Given the description of an element on the screen output the (x, y) to click on. 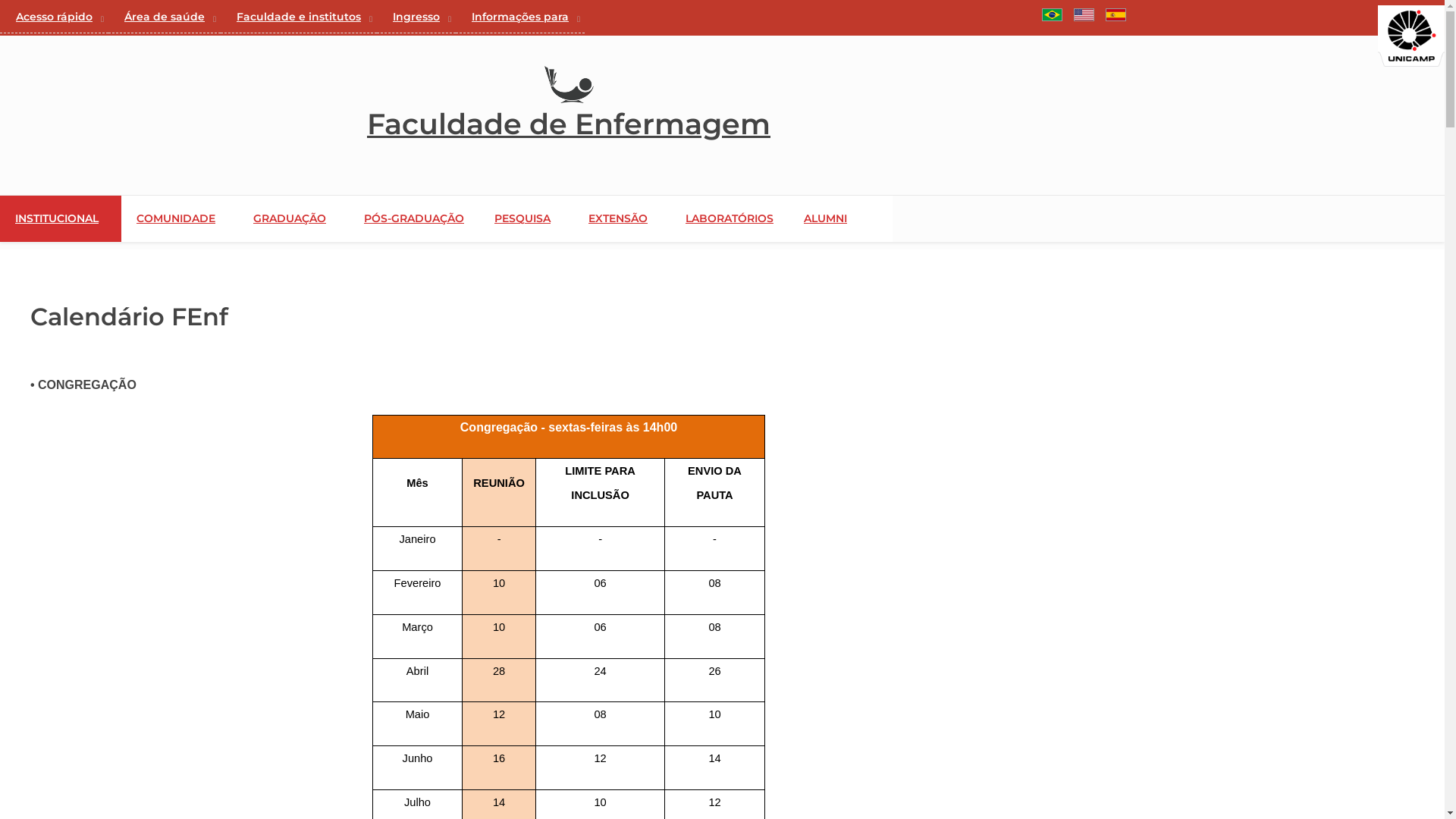
ES Element type: hover (1115, 14)
INSTITUCIONAL Element type: text (79, 218)
EN Element type: hover (1083, 14)
Buscar/Search Element type: hover (1036, 15)
Faculdade e institutos Element type: text (298, 16)
Faculdade de Enfermagem Element type: text (568, 123)
Ingresso Element type: text (415, 16)
ALUMNI Element type: text (840, 218)
BR Element type: hover (1051, 14)
COMUNIDADE Element type: text (198, 218)
PESQUISA Element type: text (545, 218)
  Element type: text (1036, 15)
